Given the description of an element on the screen output the (x, y) to click on. 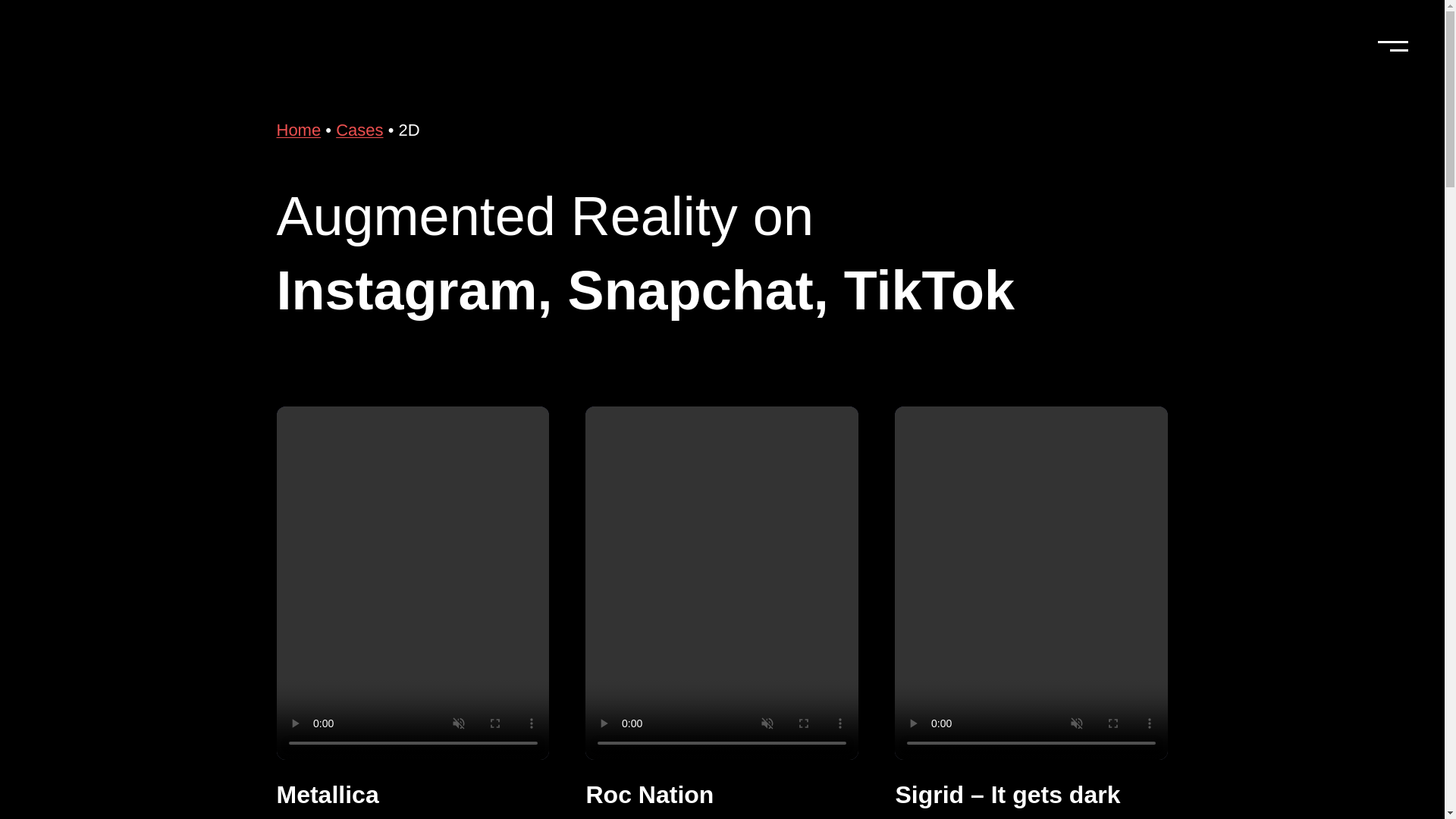
Roc Nation (649, 794)
Metallica (327, 794)
Cases (359, 129)
Home (298, 129)
Home (298, 129)
Cases (359, 129)
